Given the description of an element on the screen output the (x, y) to click on. 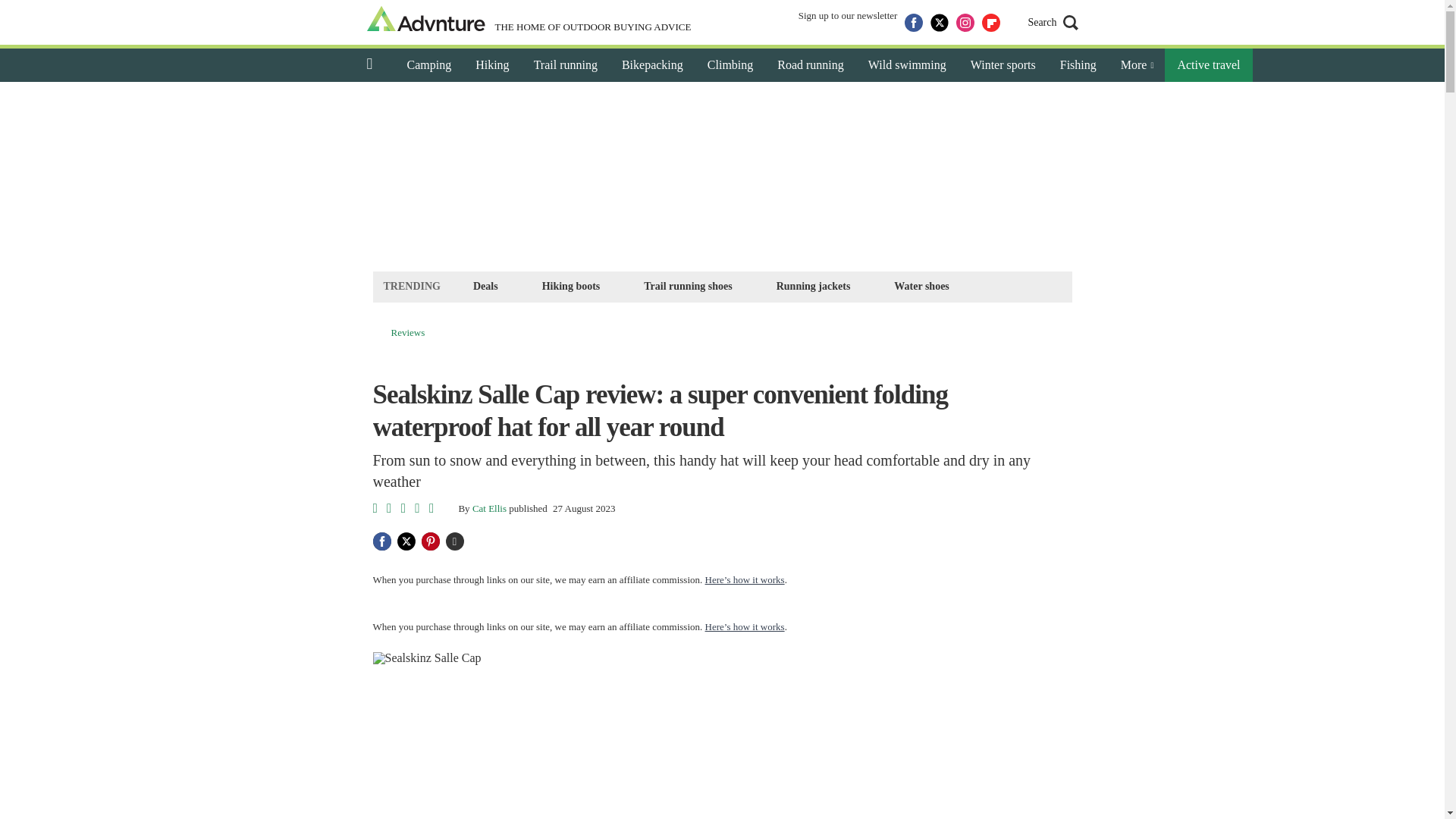
THE HOME OF OUTDOOR BUYING ADVICE (528, 20)
Fishing (1078, 64)
Climbing (730, 64)
Bikepacking (652, 64)
Running jackets (813, 286)
Road running (810, 64)
Trail running shoes (687, 286)
Hiking boots (571, 286)
Wild swimming (907, 64)
Camping (428, 64)
Trail running (565, 64)
Winter sports (1003, 64)
Water shoes (920, 286)
Cat Ellis (488, 508)
Sign up to our newsletter (847, 22)
